Given the description of an element on the screen output the (x, y) to click on. 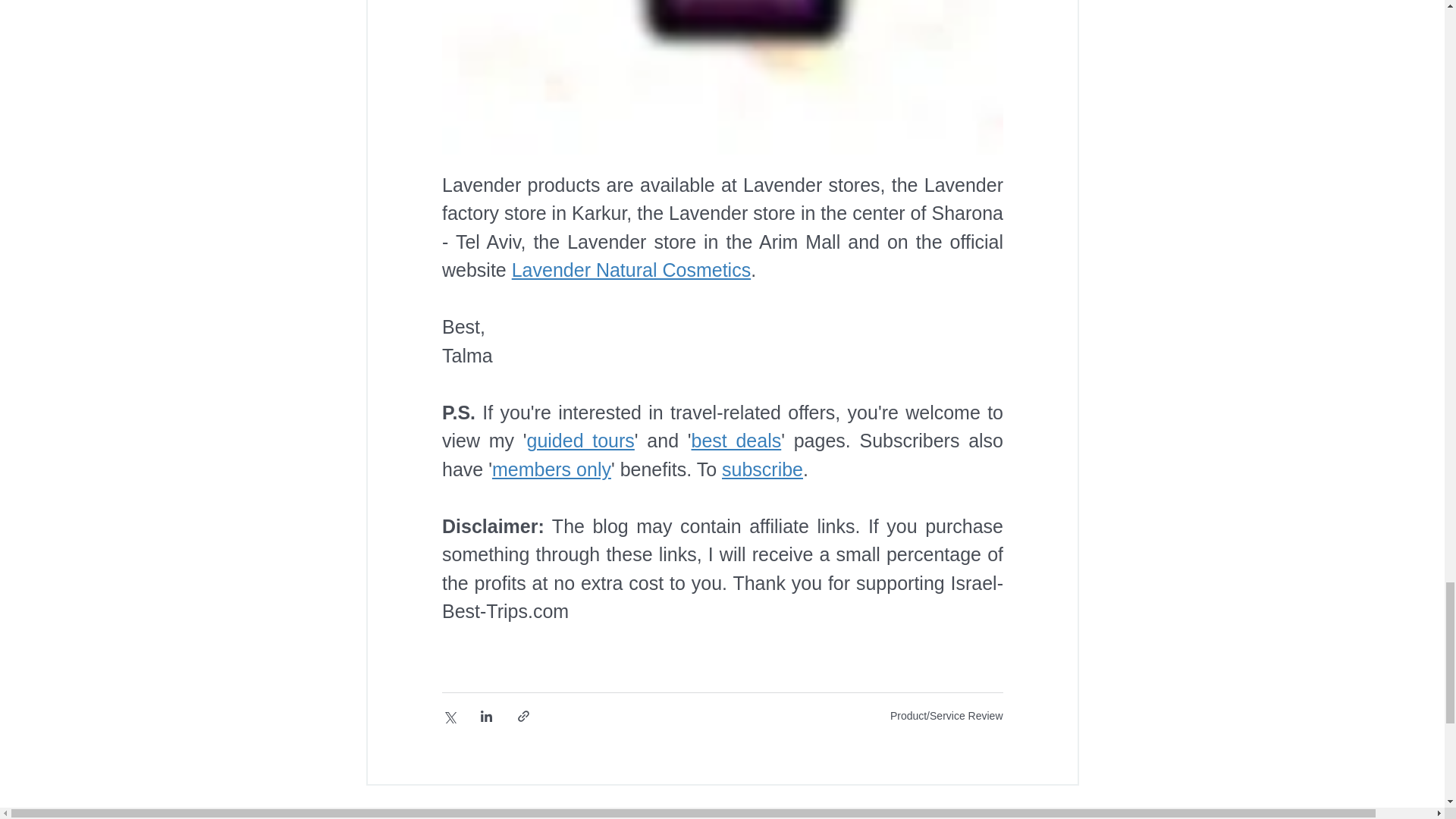
subscribe (762, 468)
members only (551, 468)
Lavender Natural Cosmetics (630, 269)
guided tours (579, 440)
best deals (735, 440)
See All (1061, 811)
